Given the description of an element on the screen output the (x, y) to click on. 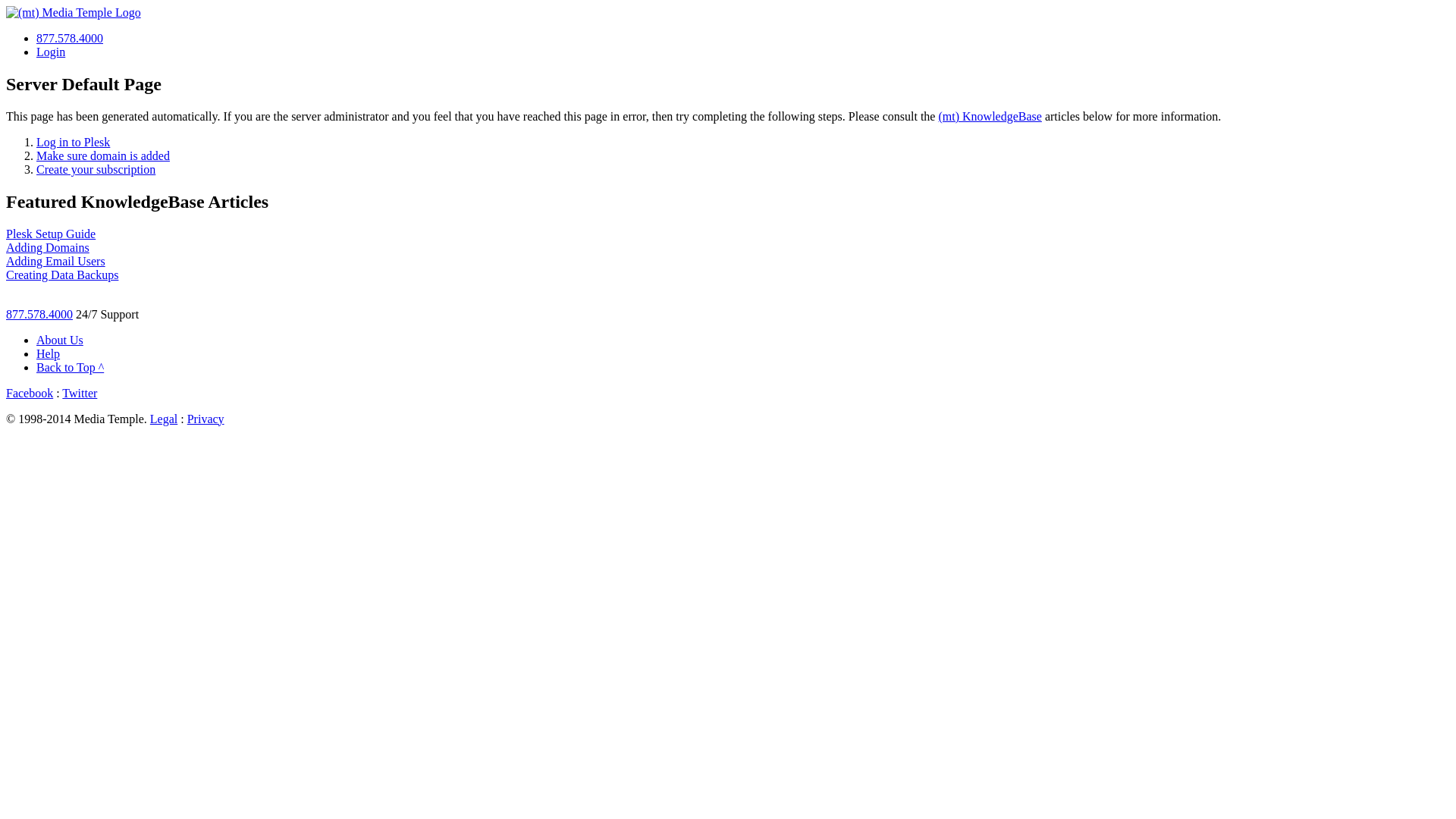
Facebook Element type: text (29, 392)
877.578.4000 Element type: text (69, 37)
Adding Domains Element type: text (47, 247)
About Us Element type: text (59, 339)
Help Element type: text (47, 353)
Creating Data Backups Element type: text (62, 274)
Back to Top ^ Element type: text (69, 366)
Create your subscription Element type: text (95, 169)
Legal Element type: text (163, 418)
Adding Email Users Element type: text (55, 260)
Log in to Plesk Element type: text (72, 141)
877.578.4000 Element type: text (39, 313)
(mt) KnowledgeBase Element type: text (989, 115)
Plesk Setup Guide Element type: text (50, 233)
Login Element type: text (50, 51)
Make sure domain is added Element type: text (102, 155)
Privacy Element type: text (205, 418)
Twitter Element type: text (79, 392)
